Given the description of an element on the screen output the (x, y) to click on. 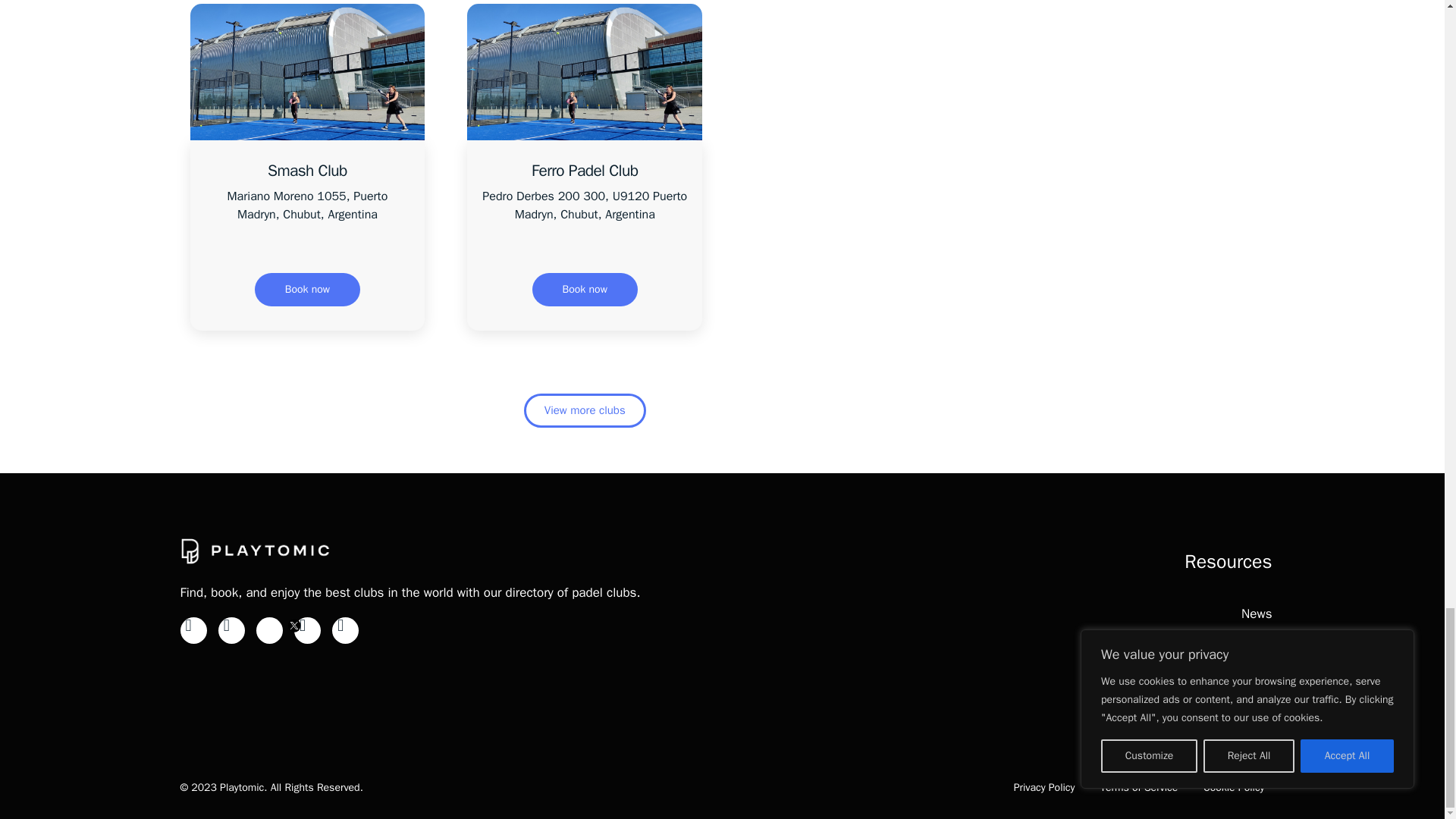
Book now (584, 289)
Book now (306, 289)
View more clubs (585, 410)
